Given the description of an element on the screen output the (x, y) to click on. 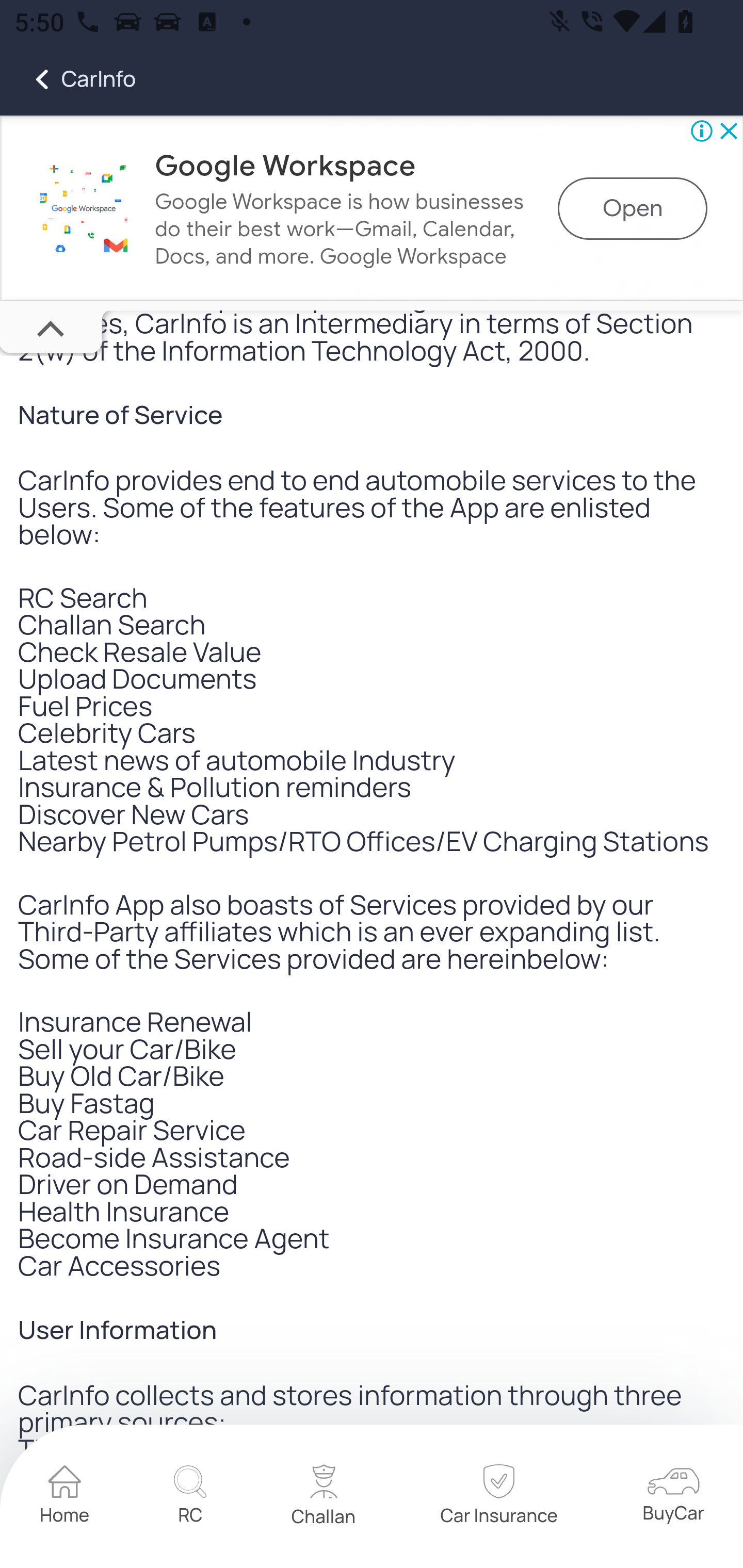
CarInfo (67, 79)
Google Workspace (284, 166)
Google Workspace (83, 209)
Open (632, 209)
home Home home Home (64, 1497)
home RC home RC (190, 1497)
home Challan home Challan (323, 1497)
home Car Insurance home Car Insurance (497, 1497)
home BuyCar home BuyCar (672, 1497)
